Given the description of an element on the screen output the (x, y) to click on. 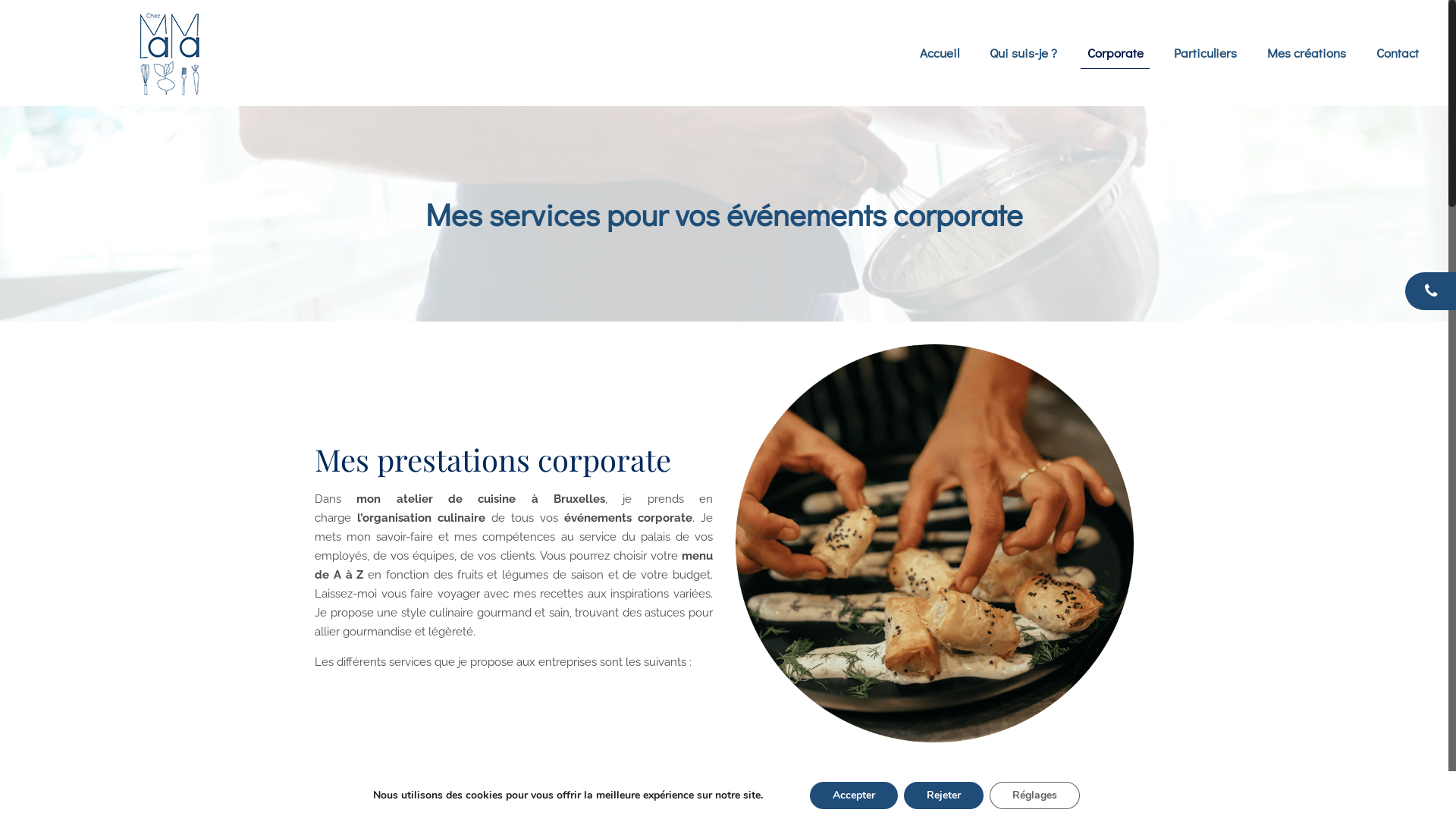
Particuliers Element type: text (1205, 53)
Accueil Element type: text (939, 53)
Qui suis-je ? Element type: text (1023, 53)
Contact Element type: text (1397, 53)
Rejeter Element type: text (943, 795)
Accepter Element type: text (853, 795)
Corporate Element type: text (1115, 53)
Chez Mama Element type: hover (169, 53)
